Given the description of an element on the screen output the (x, y) to click on. 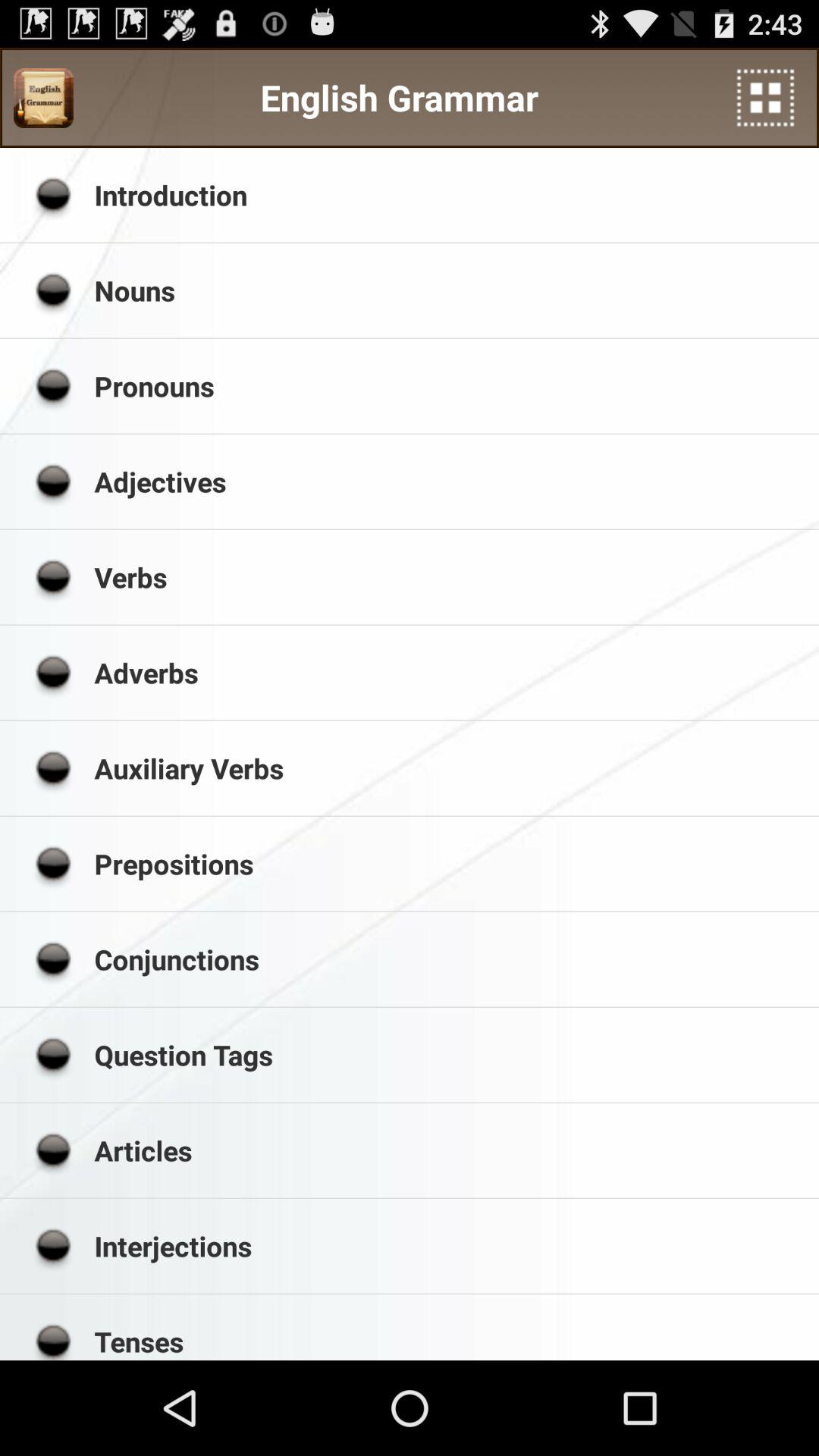
flip to the introduction icon (451, 194)
